Given the description of an element on the screen output the (x, y) to click on. 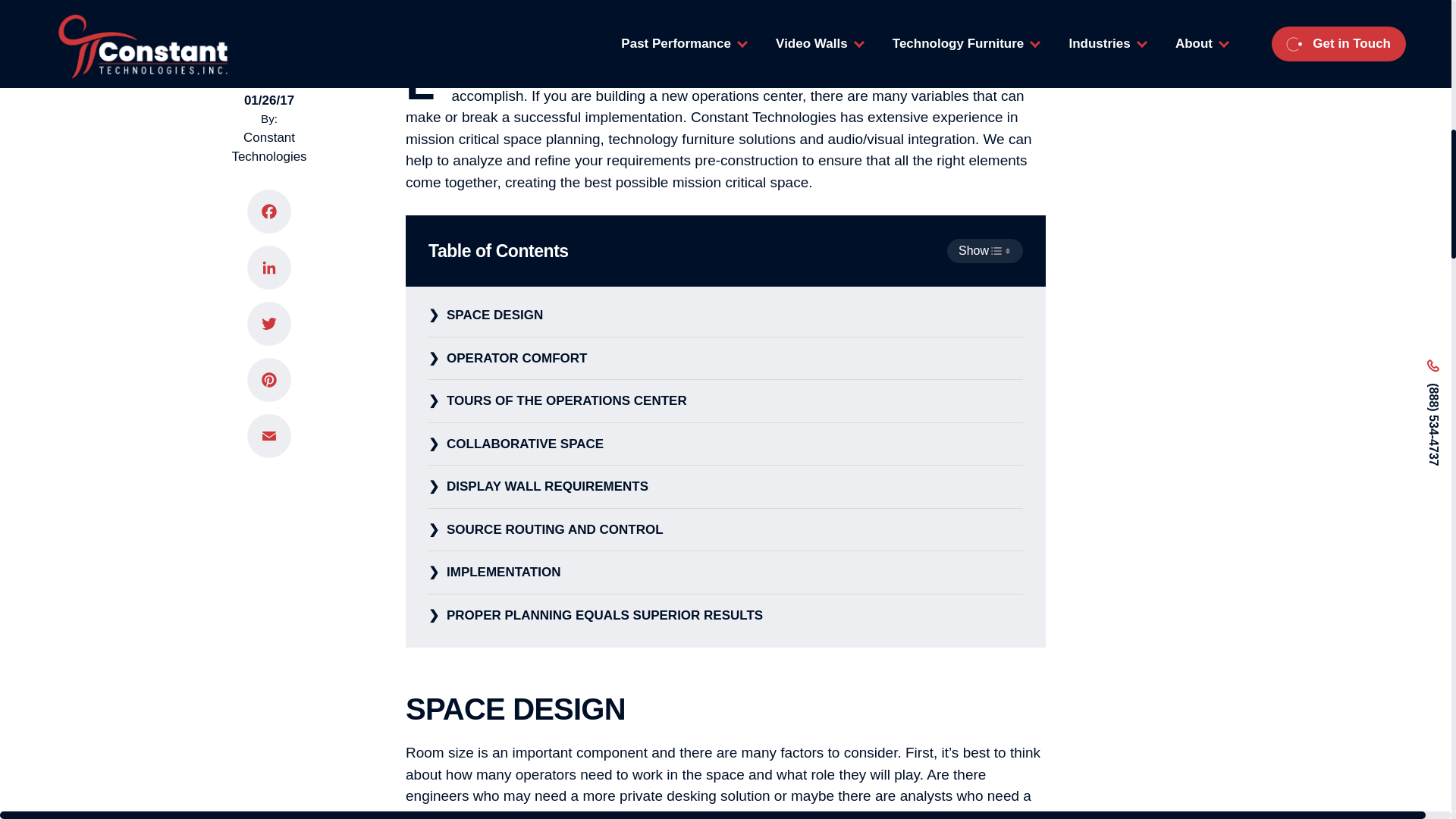
Twitter (269, 296)
SPACE DESIGN (725, 315)
DISPLAY WALL REQUIREMENTS (725, 487)
Facebook (269, 184)
OPERATOR COMFORT (725, 358)
TOURS OF THE OPERATIONS CENTER (725, 401)
Email (269, 408)
Pinterest (269, 352)
PROPER PLANNING EQUALS SUPERIOR RESULTS (725, 615)
SOURCE ROUTING AND CONTROL (725, 530)
